Given the description of an element on the screen output the (x, y) to click on. 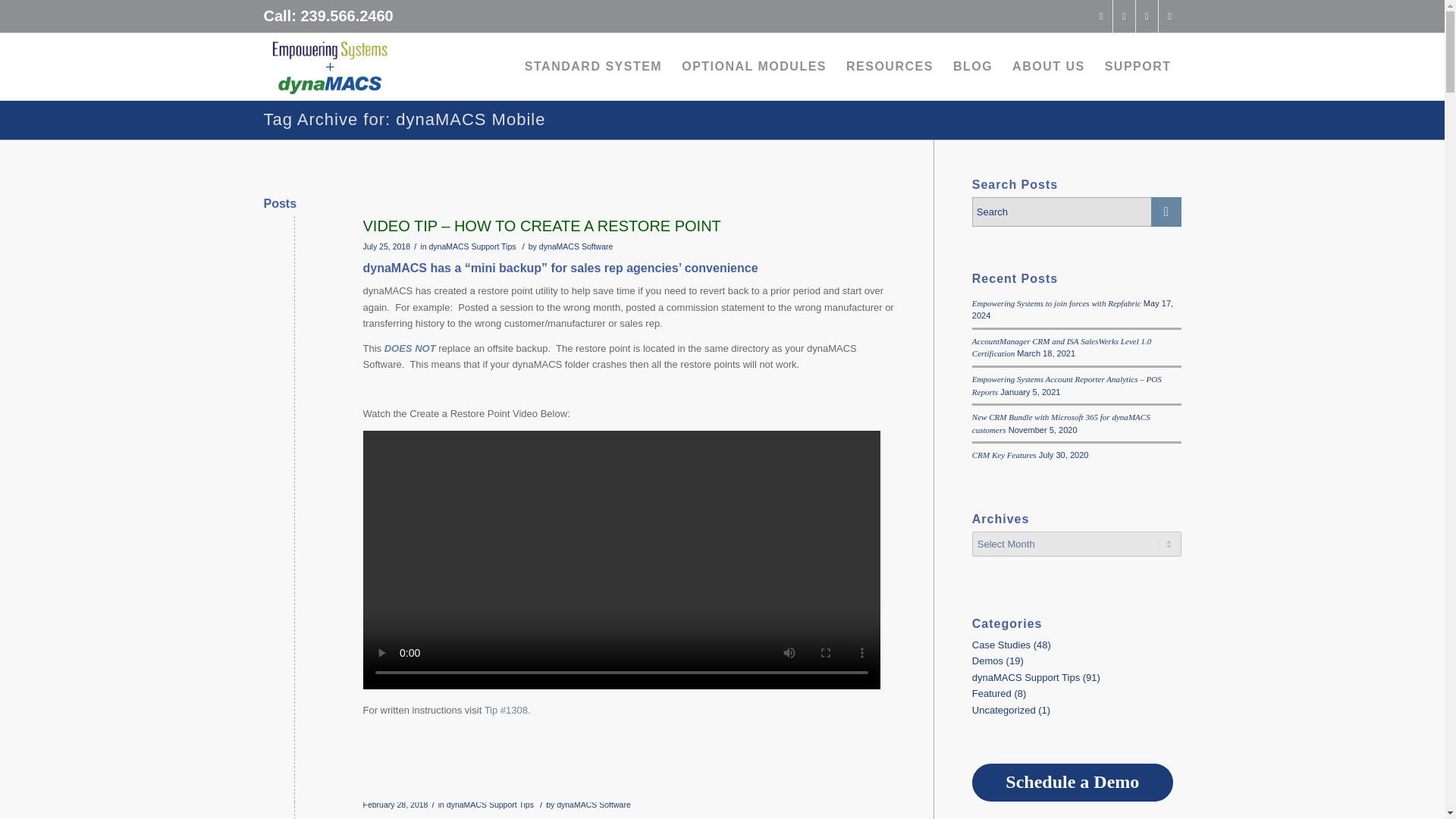
SUPPORT (1137, 66)
OPTIONAL MODULES (753, 66)
ABOUT US (1048, 66)
STANDARD SYSTEM (593, 66)
Posts by dynaMACS Software (593, 804)
Posts by dynaMACS Software (575, 245)
RESOURCES (889, 66)
Permanent Link: Tag Archive for: dynaMACS Mobile (404, 118)
